Given the description of an element on the screen output the (x, y) to click on. 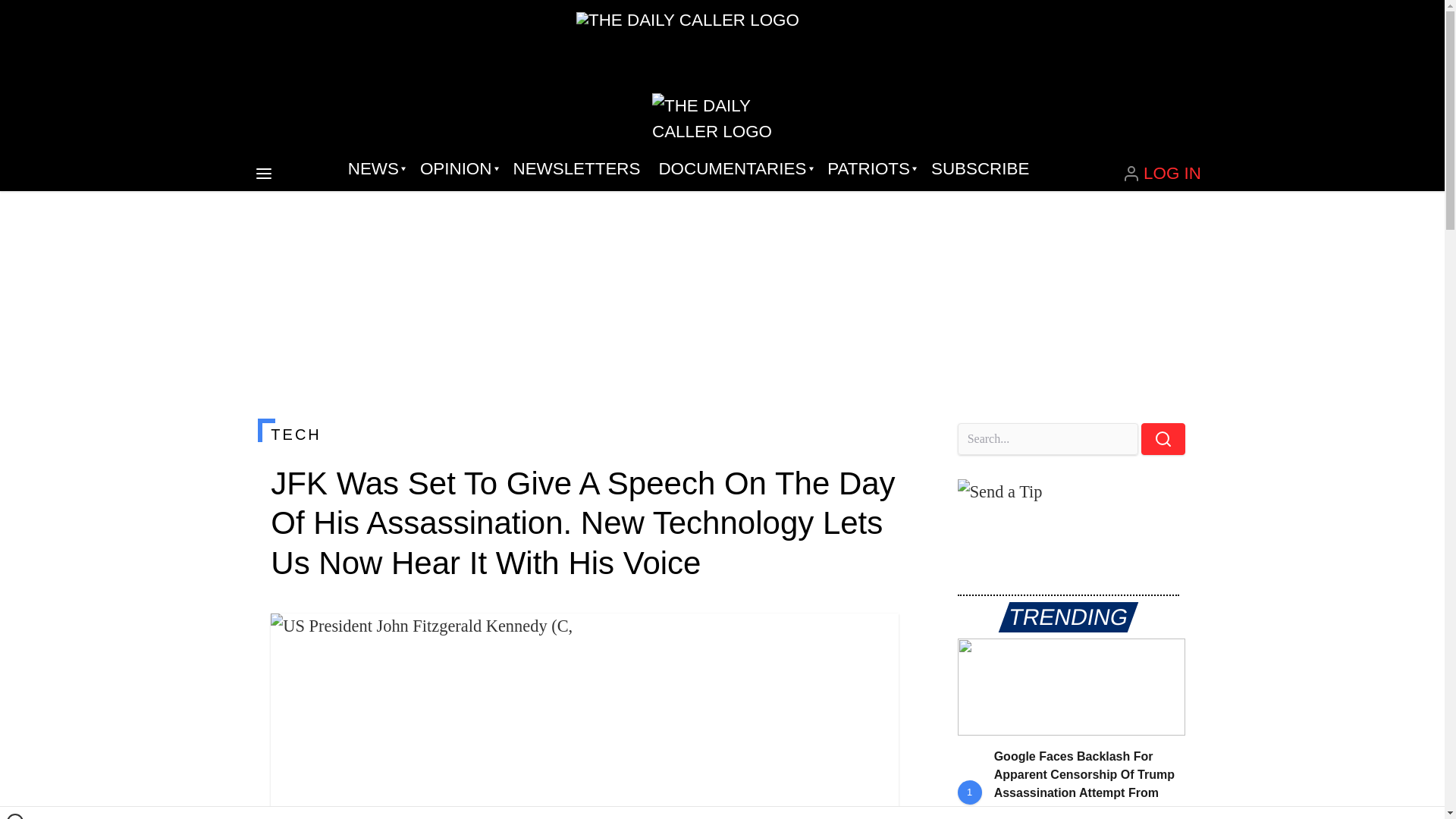
NEWSLETTERS (576, 168)
Toggle fullscreen (874, 636)
Close window (14, 816)
DOCUMENTARIES (733, 168)
TECH (584, 434)
SUBSCRIBE (979, 168)
NEWS (374, 168)
PATRIOTS (869, 168)
OPINION (456, 168)
